Given the description of an element on the screen output the (x, y) to click on. 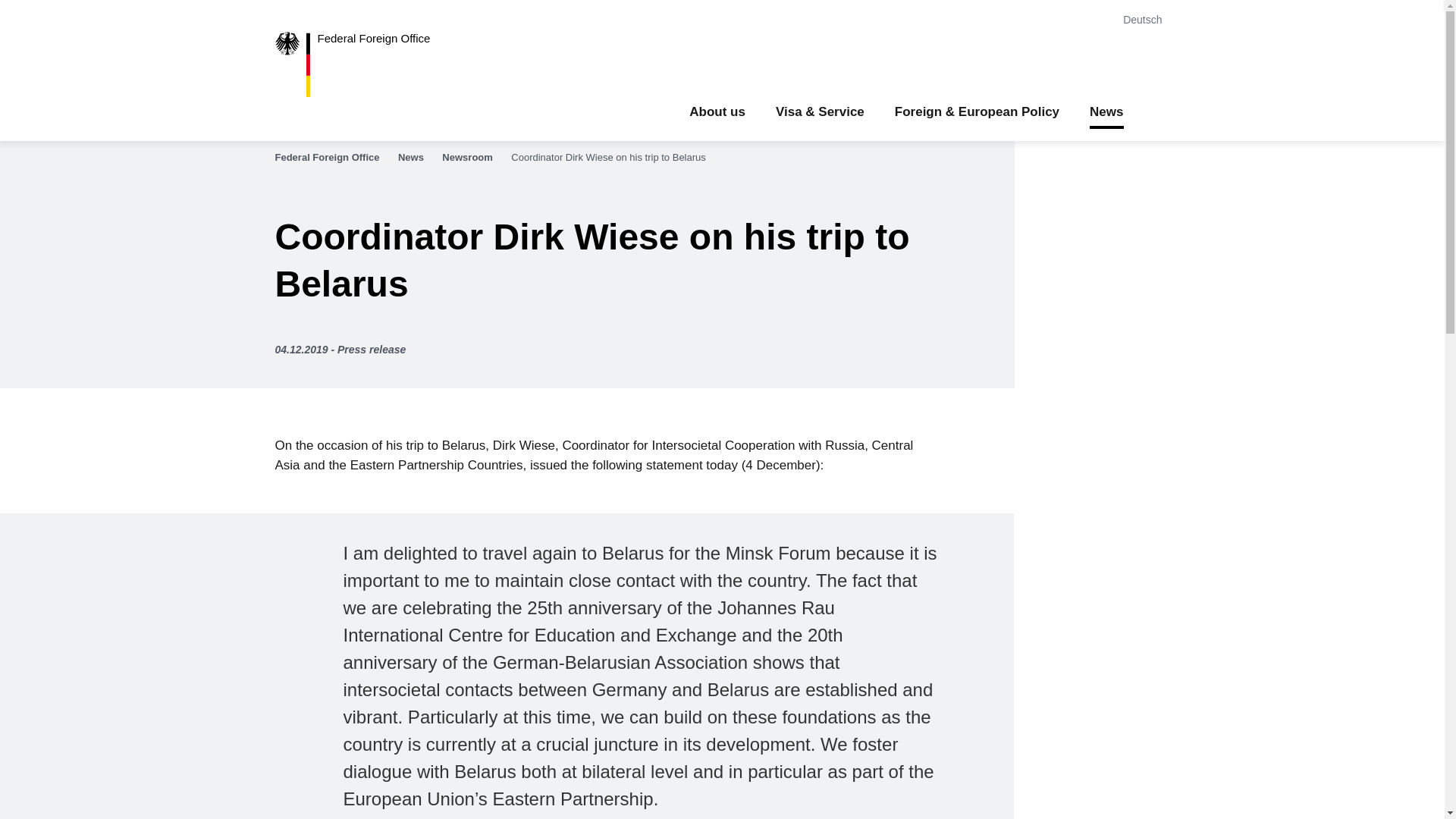
Federal Foreign Office (363, 64)
About us (716, 111)
Deutsch (1145, 19)
Federal Foreign Office (334, 157)
Deutsch (1145, 19)
News (418, 157)
Federal Foreign Office (363, 64)
Newsroom (474, 157)
